Given the description of an element on the screen output the (x, y) to click on. 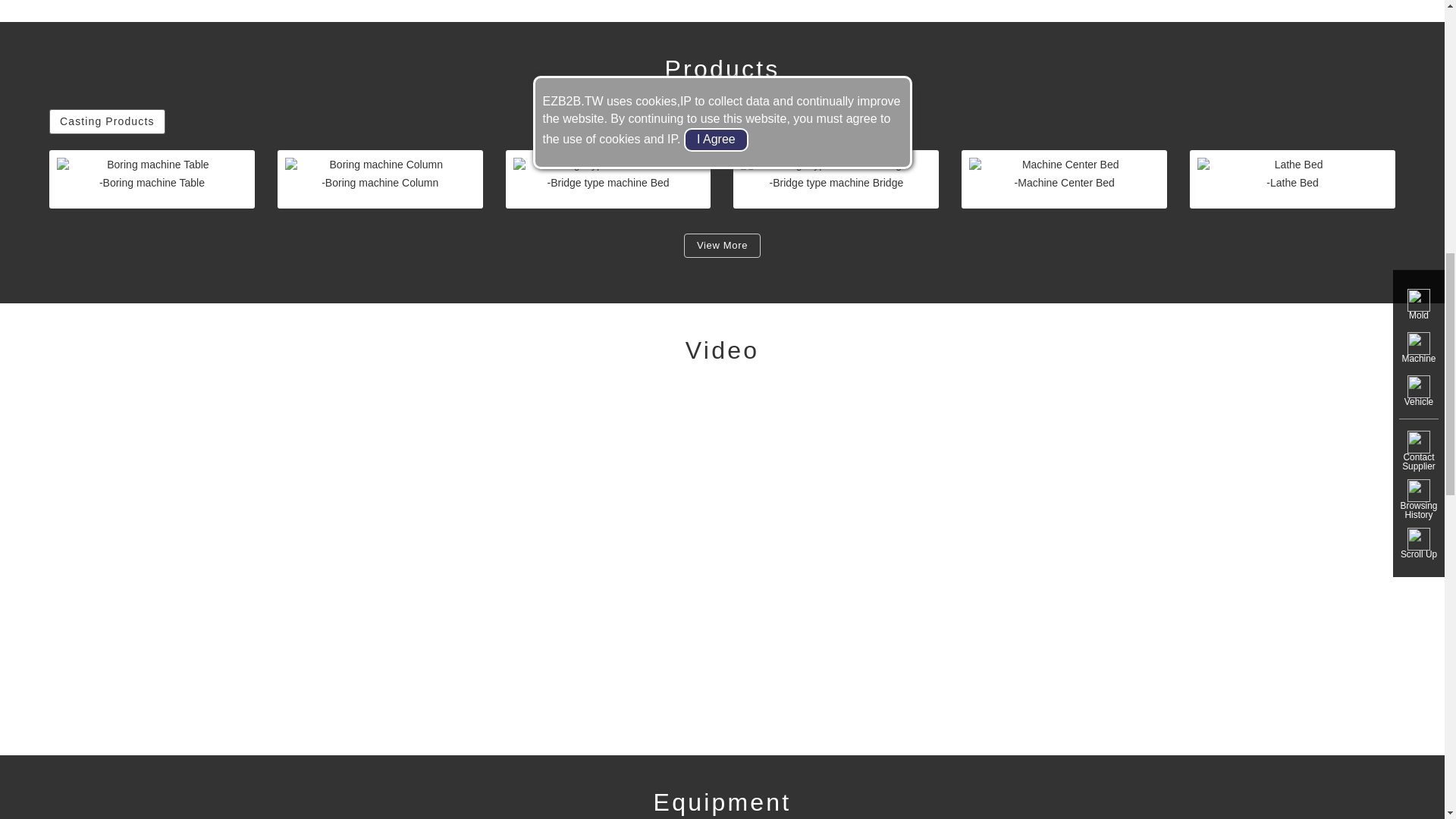
Machine Center Bed (1063, 165)
View More (722, 244)
-Bridge type machine Bridge (836, 178)
Boring machine Table (151, 165)
Lathe Bed (1291, 165)
Bridge type machine Bed (608, 165)
-Machine Center Bed (1063, 178)
Boring machine Column (380, 165)
Bridge type machine Bridge (836, 165)
-Boring machine Table (151, 178)
-Bridge type machine Bed (608, 178)
View More (722, 245)
-Lathe Bed (1291, 178)
-Boring machine Column (380, 178)
